Given the description of an element on the screen output the (x, y) to click on. 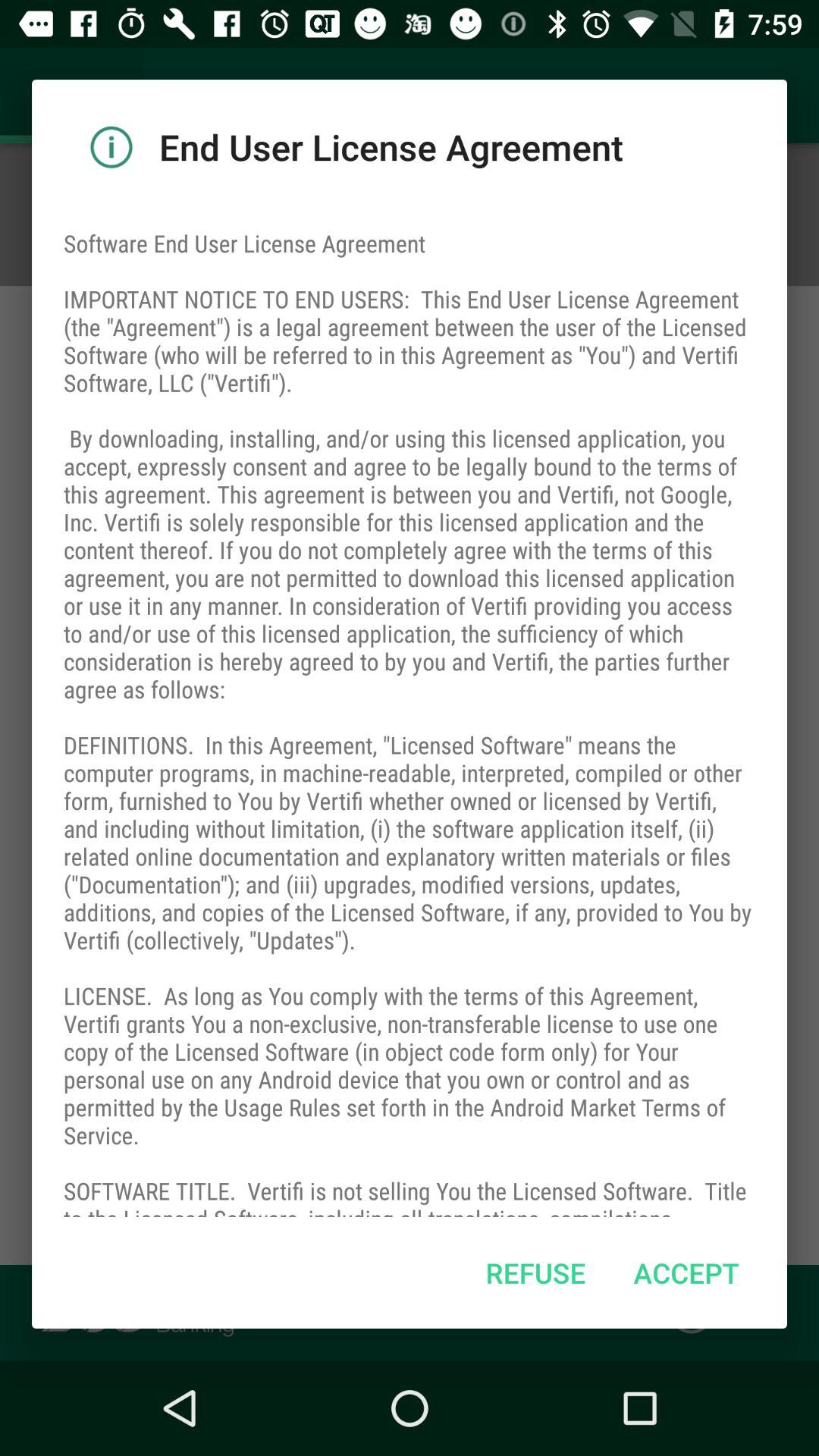
swipe until refuse icon (535, 1272)
